Given the description of an element on the screen output the (x, y) to click on. 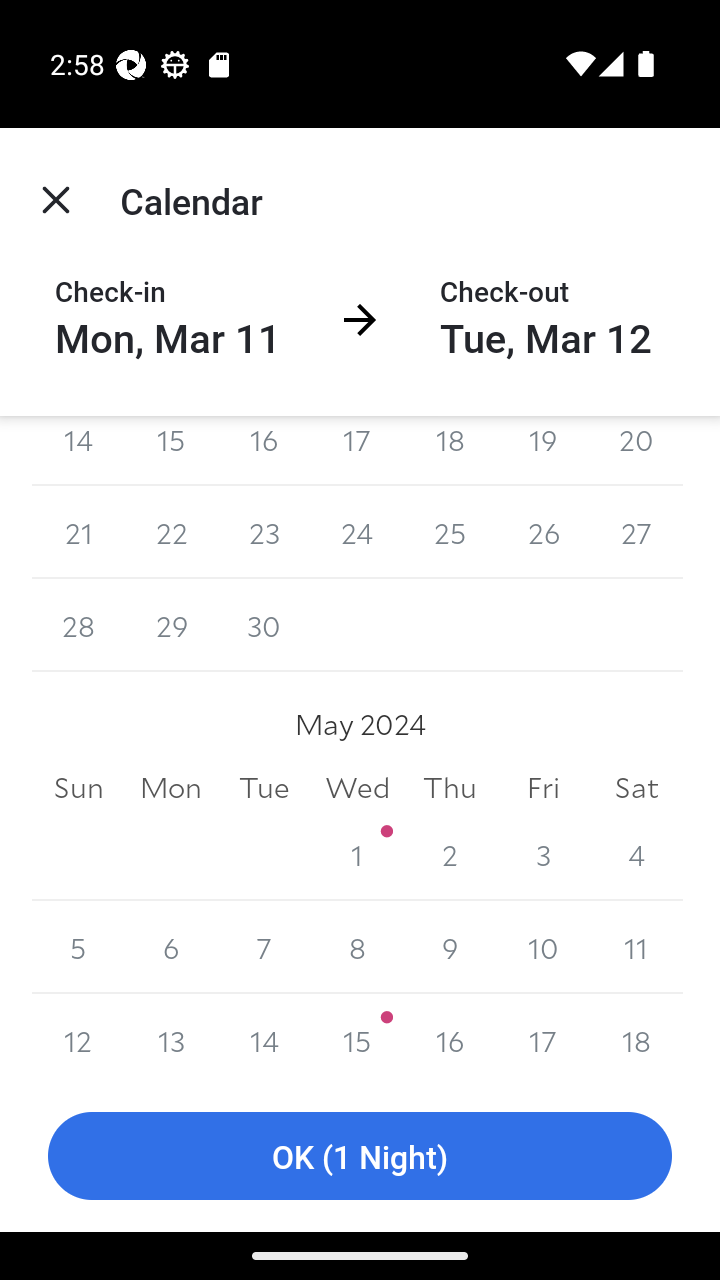
14 14 April 2024 (78, 451)
15 15 April 2024 (171, 451)
16 16 April 2024 (264, 451)
17 17 April 2024 (357, 451)
18 18 April 2024 (449, 451)
19 19 April 2024 (542, 451)
20 20 April 2024 (636, 451)
21 21 April 2024 (78, 532)
22 22 April 2024 (171, 532)
23 23 April 2024 (264, 532)
24 24 April 2024 (357, 532)
25 25 April 2024 (449, 532)
26 26 April 2024 (542, 532)
27 27 April 2024 (636, 532)
28 28 April 2024 (78, 625)
29 29 April 2024 (171, 625)
30 30 April 2024 (264, 625)
Sun (78, 786)
Mon (171, 786)
Tue (264, 786)
Wed (357, 786)
Thu (449, 786)
Fri (542, 786)
Sat (636, 786)
1 1 May 2024 (357, 854)
2 2 May 2024 (449, 854)
3 3 May 2024 (542, 854)
4 4 May 2024 (636, 854)
5 5 May 2024 (78, 947)
6 6 May 2024 (171, 947)
7 7 May 2024 (264, 947)
8 8 May 2024 (357, 947)
9 9 May 2024 (449, 947)
10 10 May 2024 (542, 947)
11 11 May 2024 (636, 947)
12 12 May 2024 (78, 1037)
13 13 May 2024 (171, 1037)
14 14 May 2024 (264, 1037)
15 15 May 2024 (357, 1037)
16 16 May 2024 (449, 1037)
17 17 May 2024 (542, 1037)
18 18 May 2024 (636, 1037)
OK (1 Night) (359, 1156)
